Given the description of an element on the screen output the (x, y) to click on. 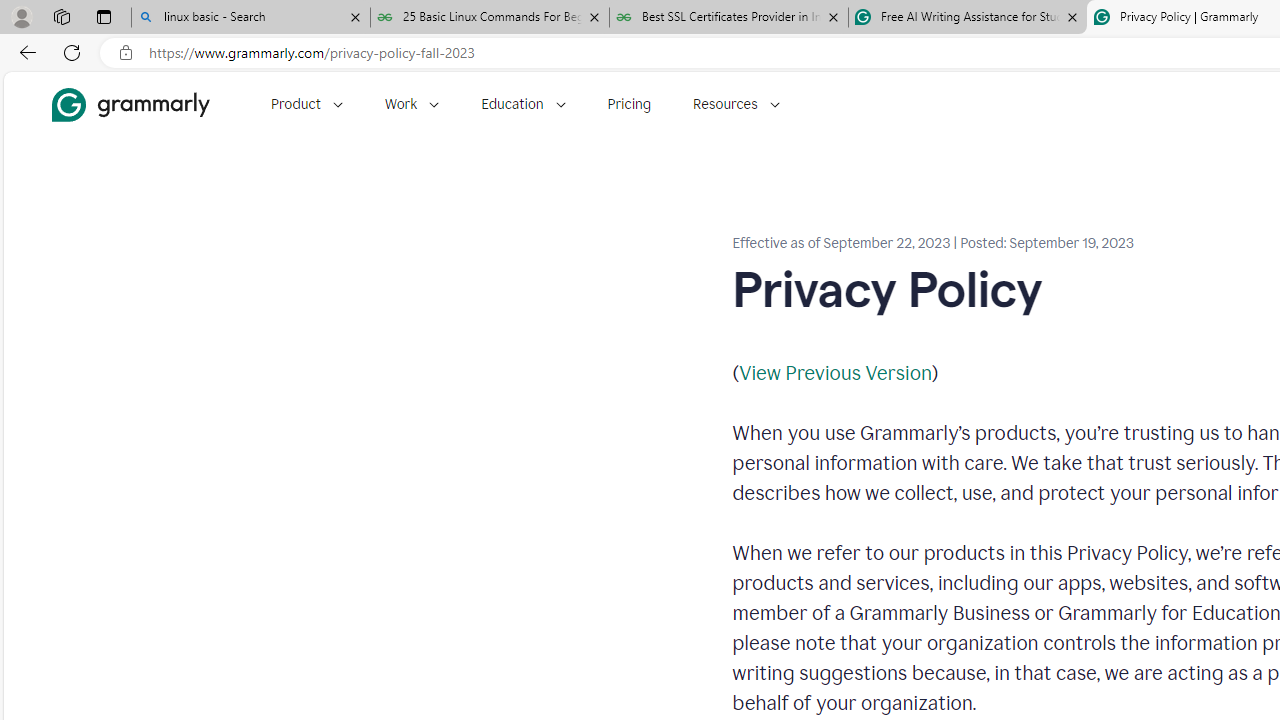
Free AI Writing Assistance for Students | Grammarly (967, 17)
Work (412, 104)
Pricing (629, 103)
25 Basic Linux Commands For Beginners - GeeksforGeeks (490, 17)
Product (306, 103)
linux basic - Search (250, 17)
Grammarly Home (130, 104)
